Given the description of an element on the screen output the (x, y) to click on. 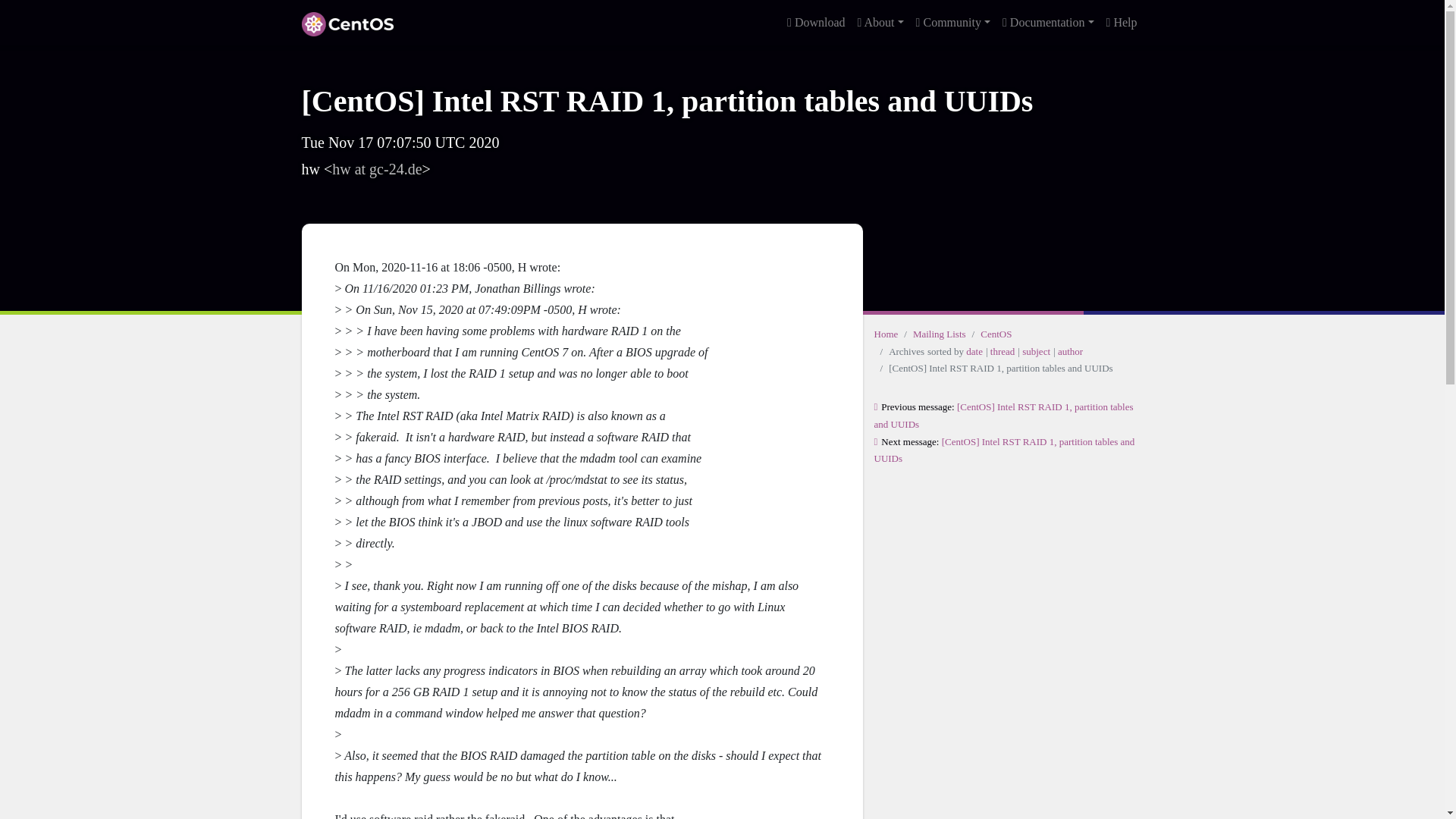
Download (815, 22)
Home (885, 334)
Help (1121, 22)
About (880, 22)
CentOS (995, 334)
author (1070, 351)
thread (1002, 351)
subject (1035, 351)
Community (952, 22)
Mailing Lists (939, 334)
